Given the description of an element on the screen output the (x, y) to click on. 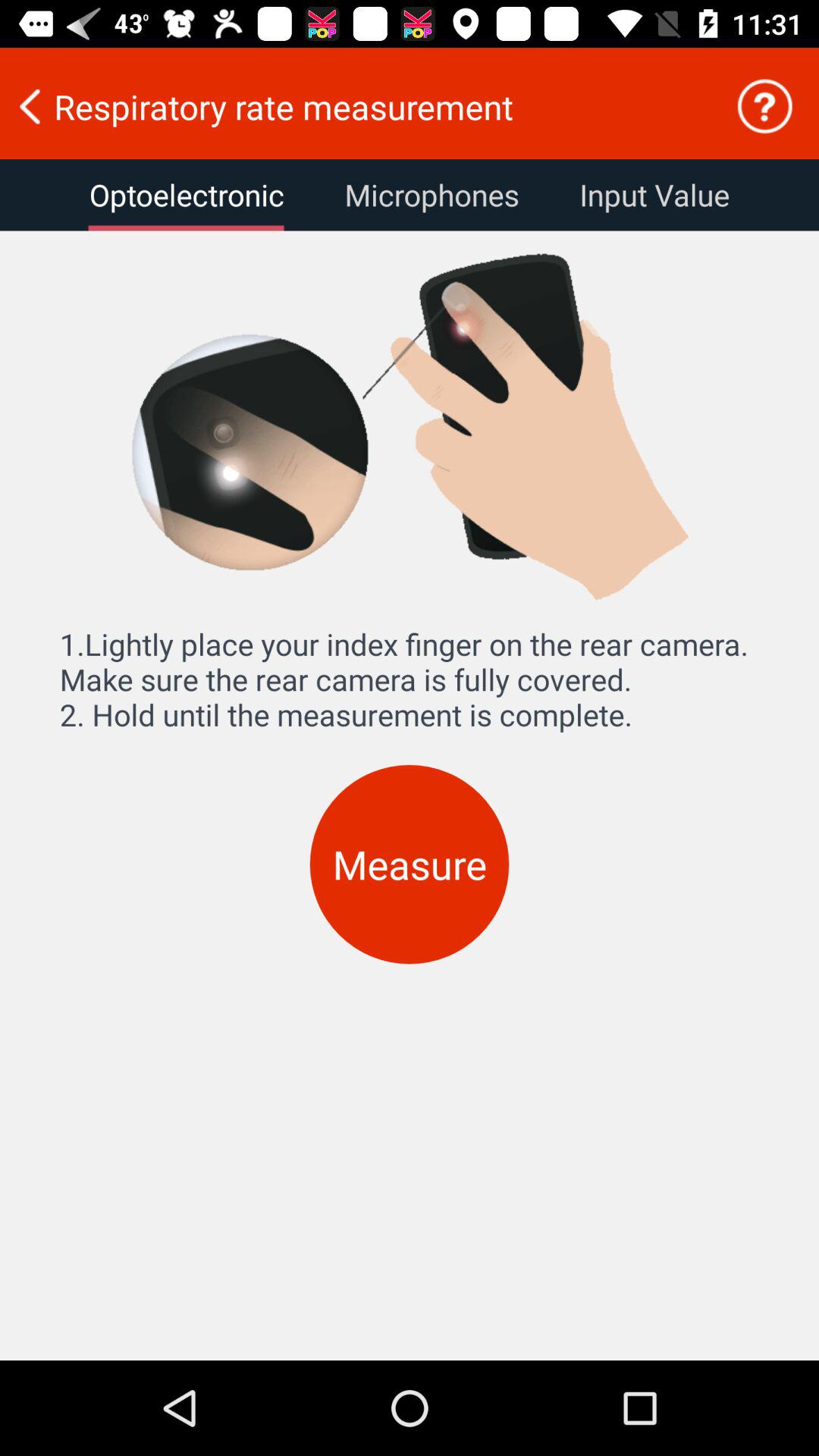
flip until the input value (654, 194)
